Given the description of an element on the screen output the (x, y) to click on. 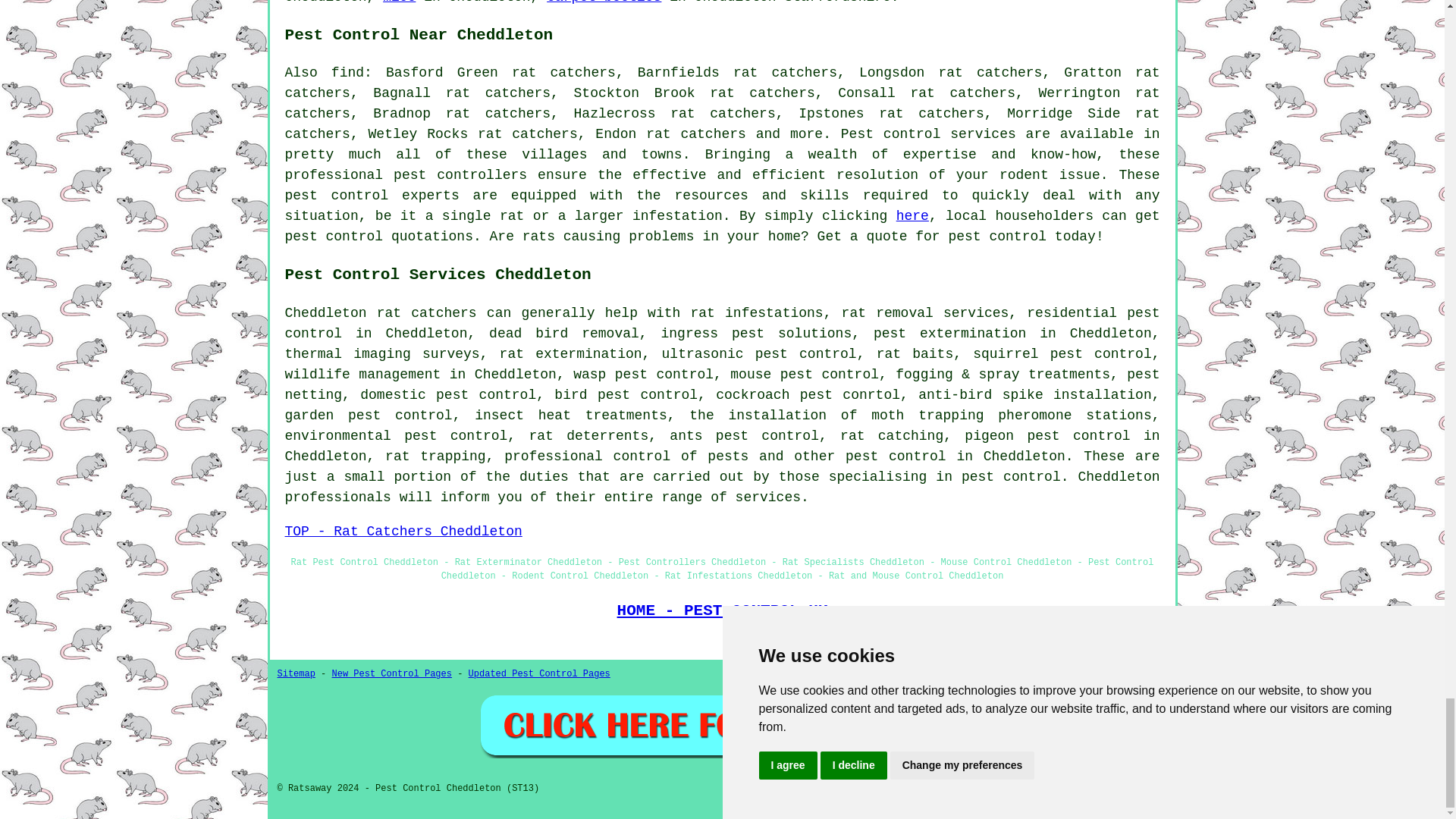
pest control (334, 236)
pest control (336, 195)
Pest control services (928, 133)
rat catchers (427, 313)
